Given the description of an element on the screen output the (x, y) to click on. 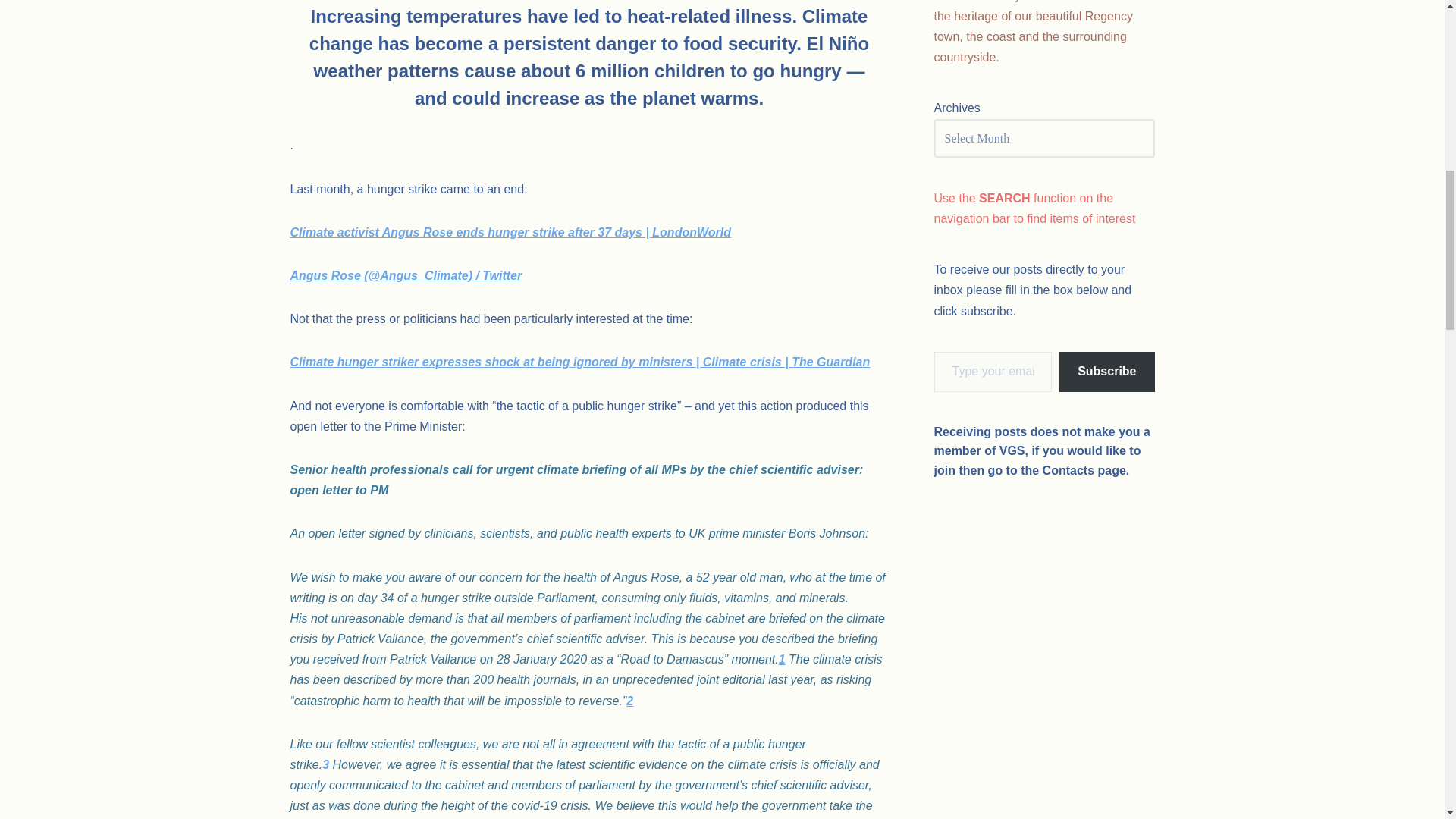
Please fill in this field. (993, 372)
